Given the description of an element on the screen output the (x, y) to click on. 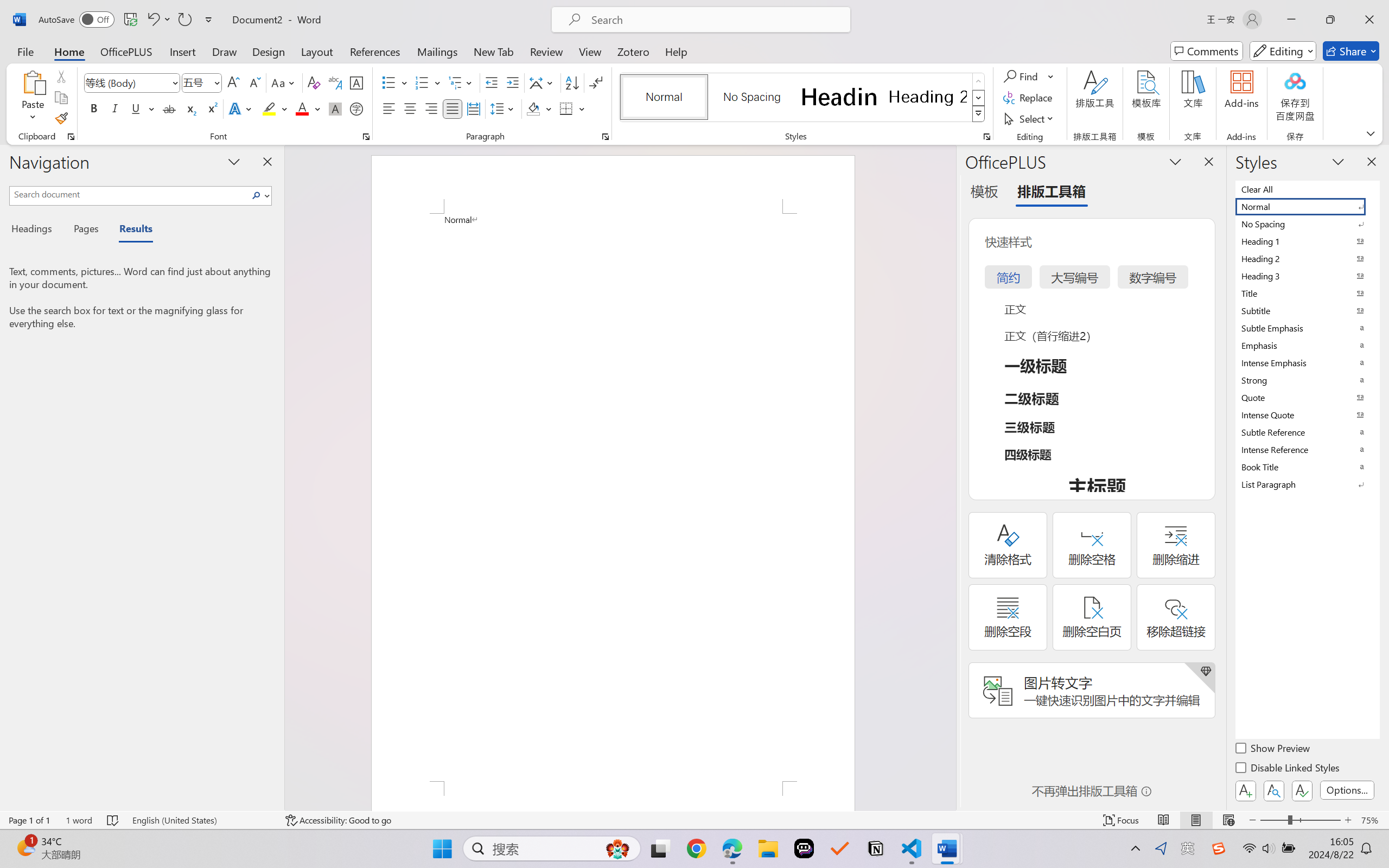
Character Border (356, 82)
Numbering (421, 82)
Intense Quote (1306, 414)
Spelling and Grammar Check No Errors (113, 819)
Change Case (284, 82)
Underline (142, 108)
Insert (182, 51)
No Spacing (1306, 223)
Select (1030, 118)
Normal (1306, 206)
Paste (33, 81)
